Given the description of an element on the screen output the (x, y) to click on. 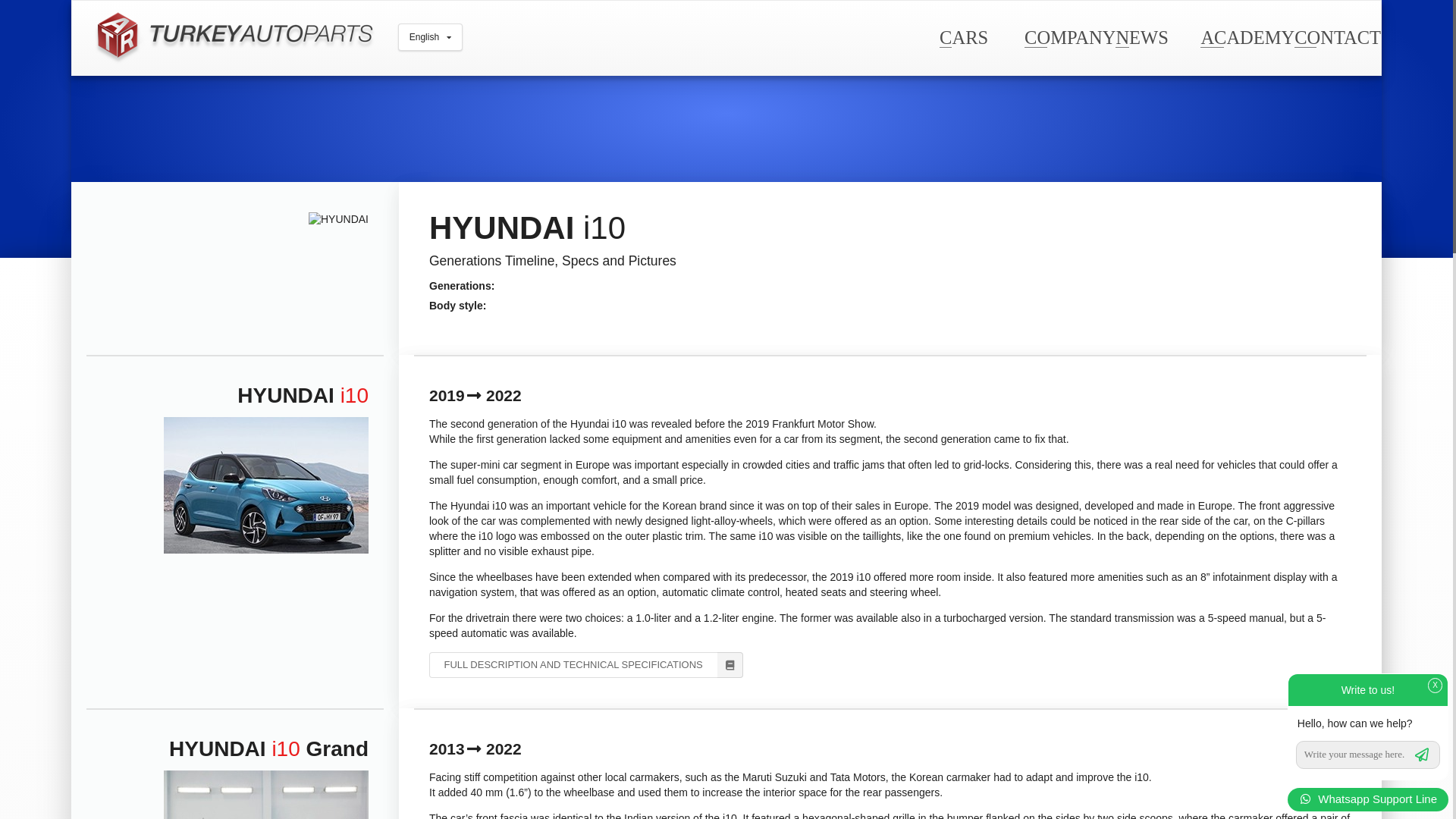
CONTACT (1337, 37)
CARS (963, 37)
NEWS (1141, 37)
COMPANY (1070, 37)
FULL DESCRIPTION AND TECHNICAL SPECIFICATIONS (585, 664)
ACADEMY (1246, 37)
